Given the description of an element on the screen output the (x, y) to click on. 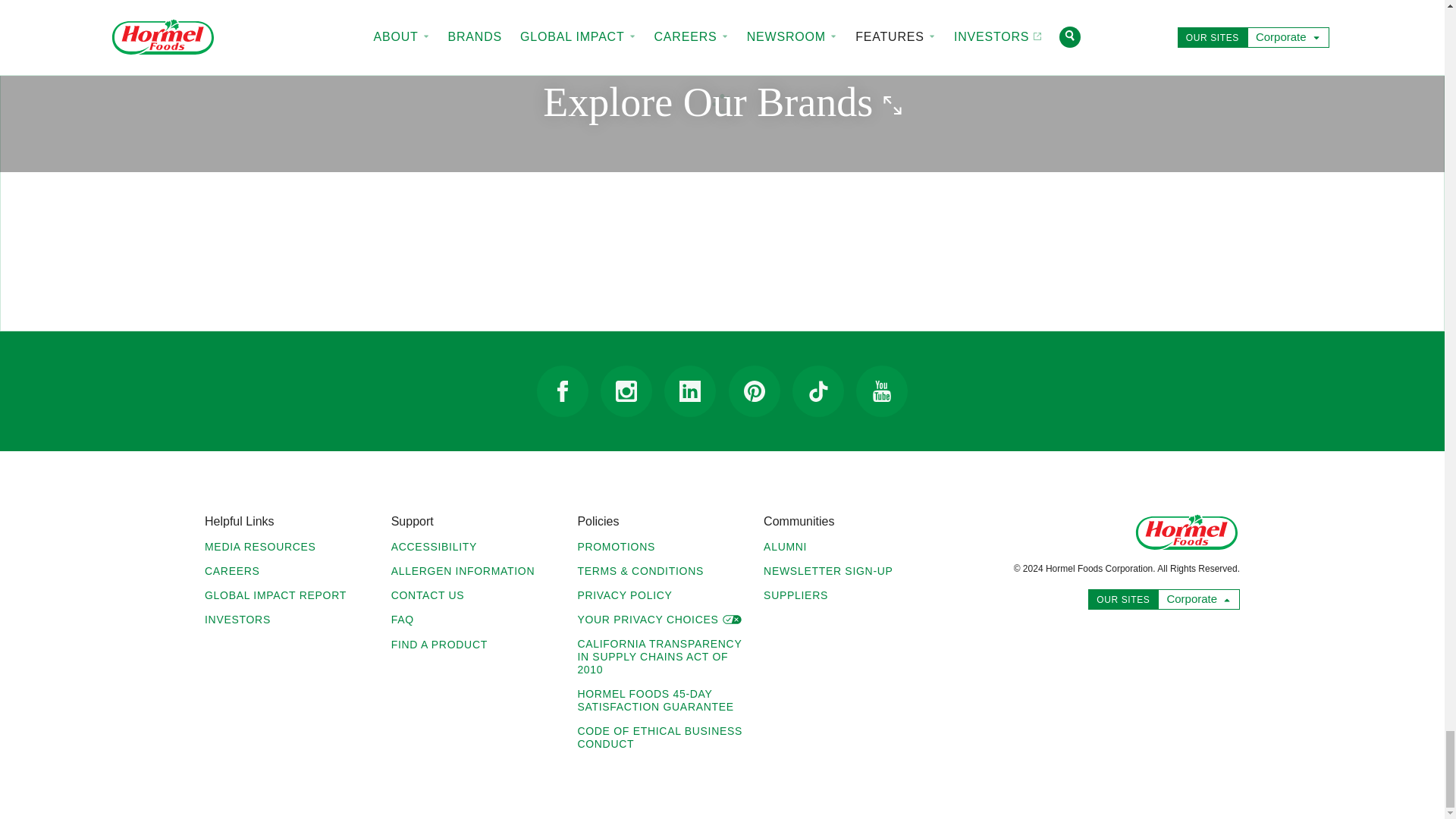
Linkedin (689, 390)
Pinterest (754, 390)
Youtube (881, 390)
Instagram (625, 390)
Tiktok (818, 390)
Facebook (562, 390)
